Given the description of an element on the screen output the (x, y) to click on. 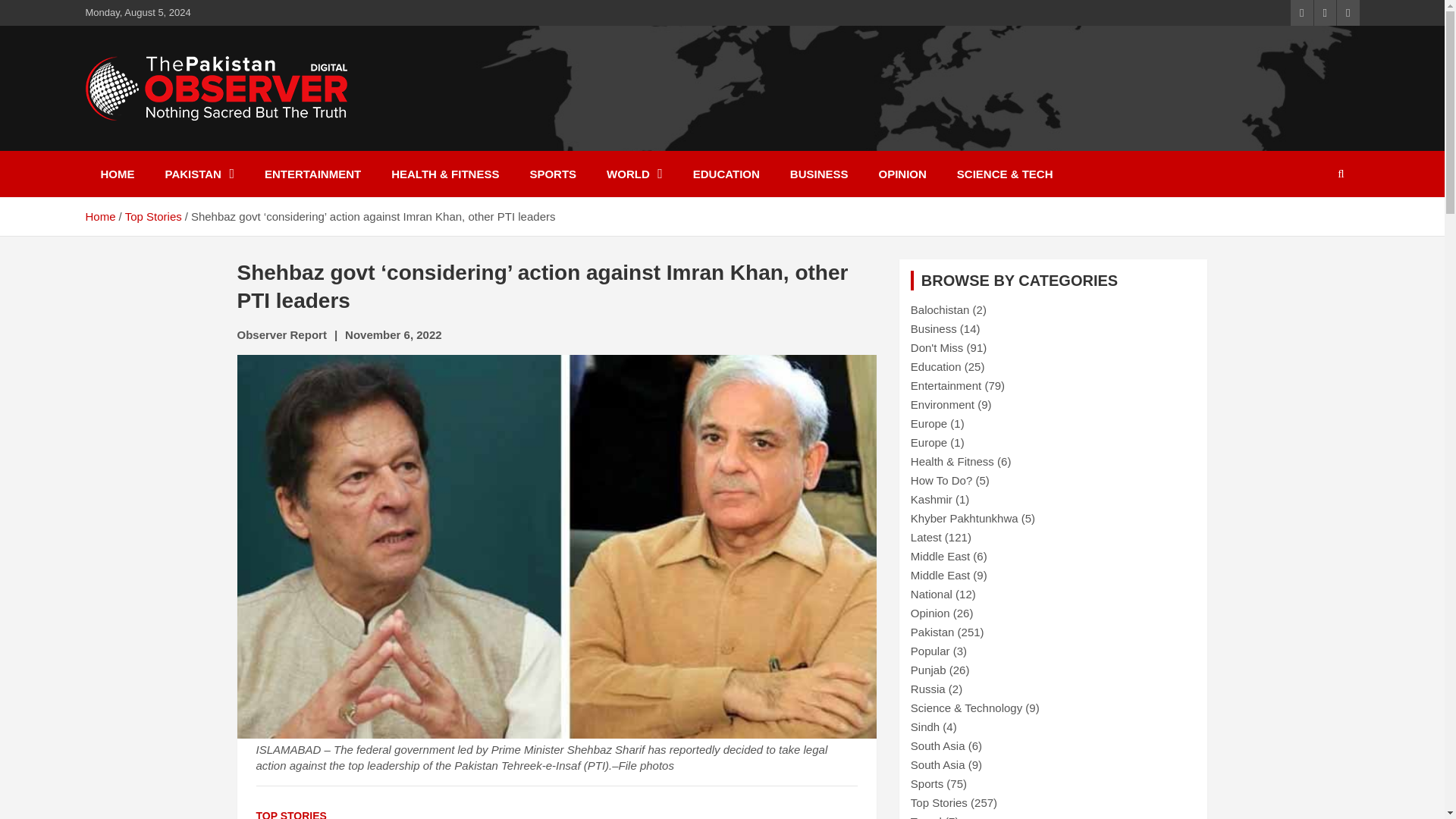
BUSINESS (818, 173)
SPORTS (552, 173)
The Pakistan Observer Digital (248, 159)
HOME (116, 173)
Top Stories (153, 215)
EDUCATION (726, 173)
WORLD (634, 173)
OPINION (901, 173)
PAKISTAN (198, 173)
Home (99, 215)
November 6, 2022 (393, 334)
TOP STORIES (291, 814)
ENTERTAINMENT (311, 173)
Observer Report (280, 334)
